Given the description of an element on the screen output the (x, y) to click on. 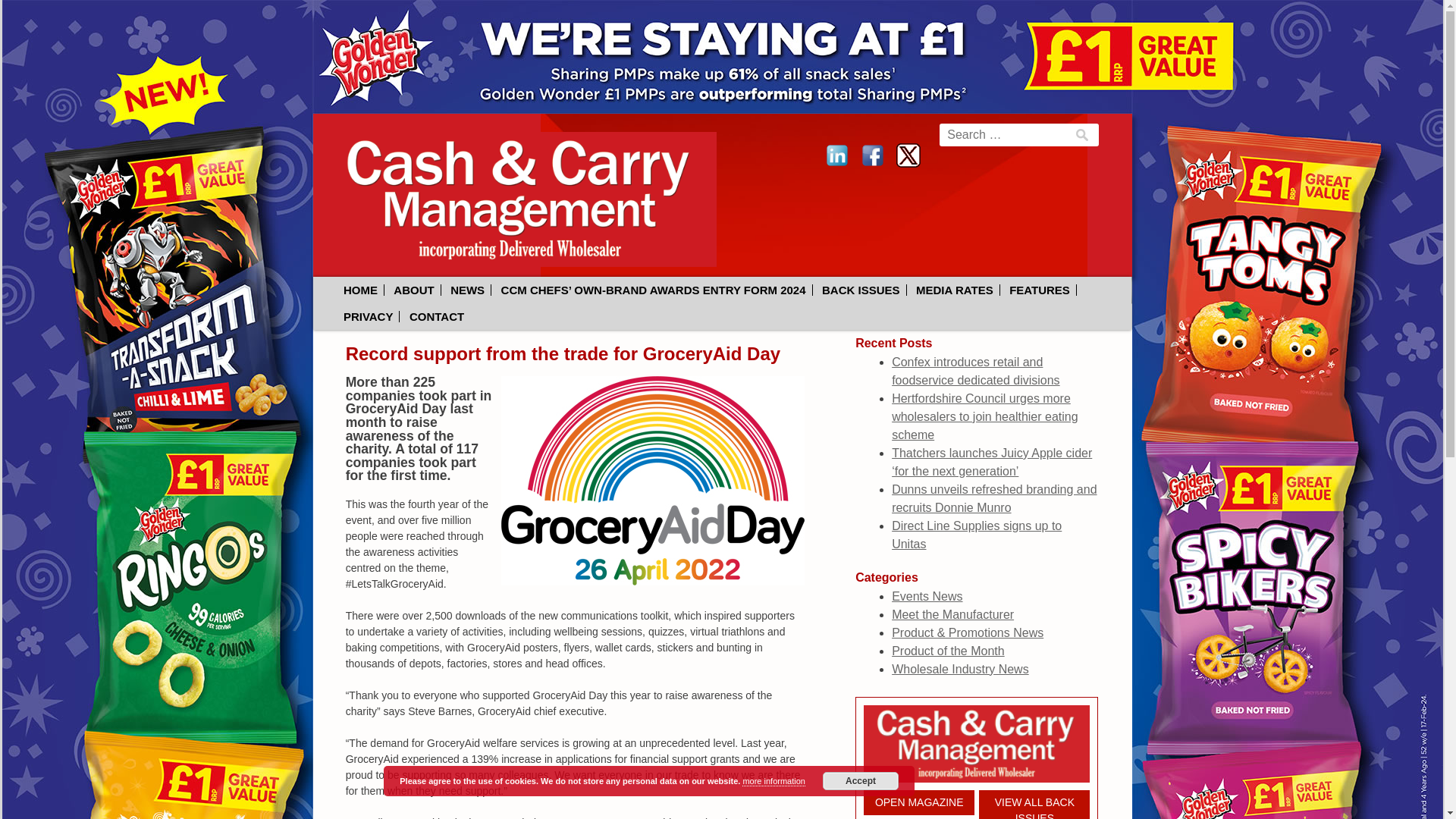
HOME (360, 289)
CONTACT (436, 316)
FEATURES (1040, 289)
Record support from the trade for GroceryAid Day (563, 353)
NEWS (468, 289)
Confex introduces retail and foodservice dedicated divisions (975, 370)
PRIVACY (368, 316)
MEDIA RATES (955, 289)
ABOUT (414, 289)
